Given the description of an element on the screen output the (x, y) to click on. 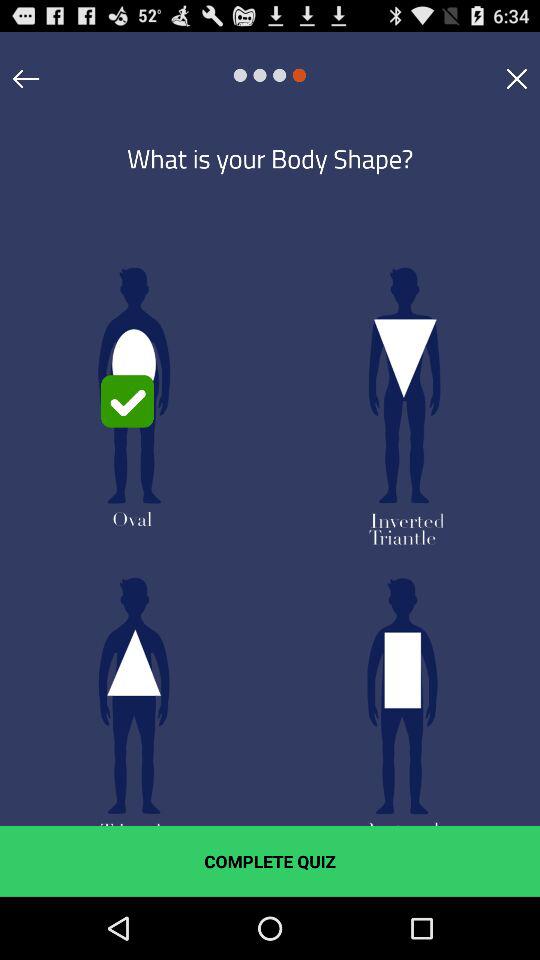
scroll until the complete quiz icon (270, 861)
